Given the description of an element on the screen output the (x, y) to click on. 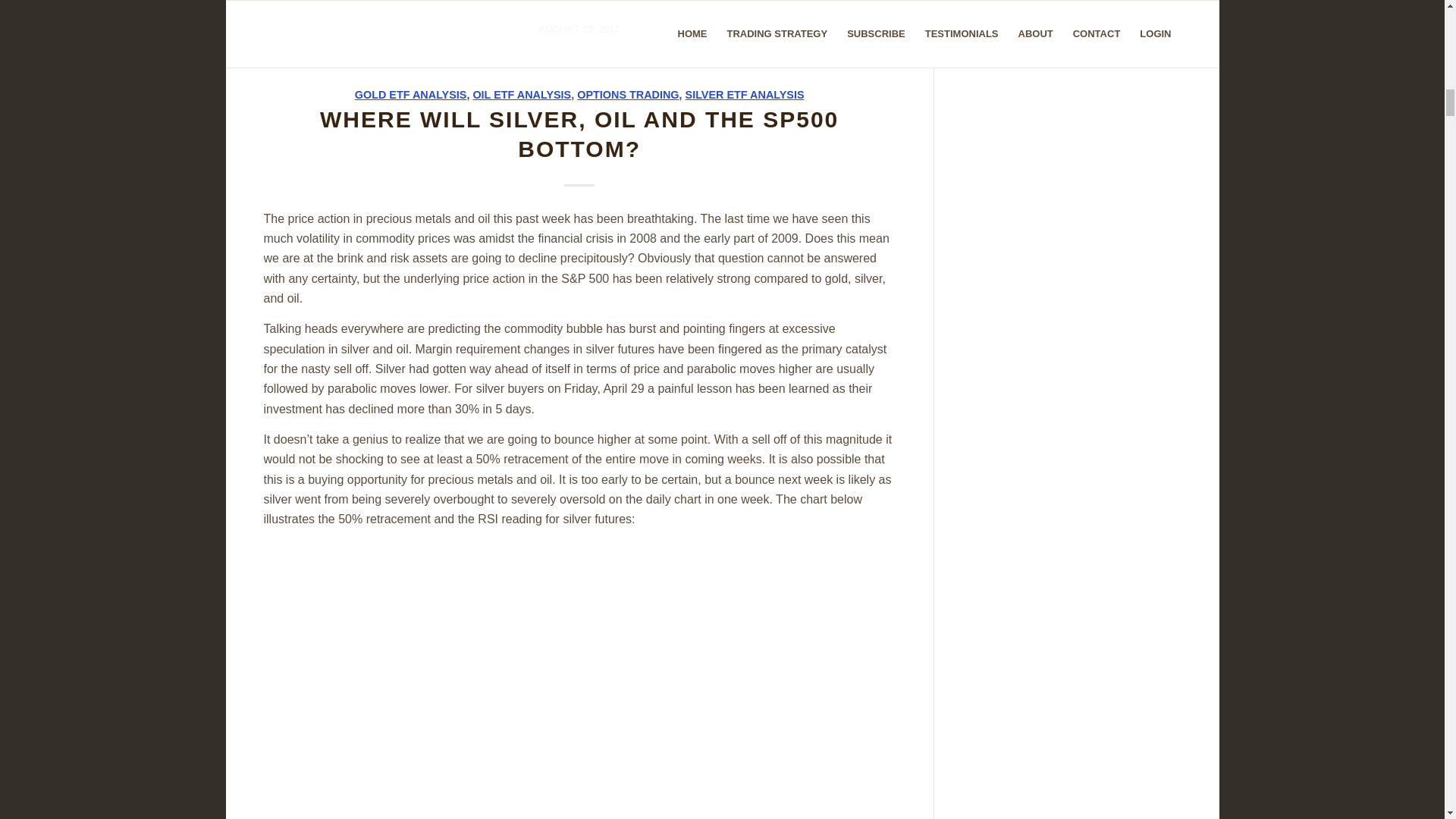
SILVER ETF ANALYSIS (745, 94)
GOLD ETF ANALYSIS (411, 94)
Permanent Link: Where will Silver, Oil and the SP500 Bottom? (579, 134)
WHERE WILL SILVER, OIL AND THE SP500 BOTTOM? (579, 134)
OIL ETF ANALYSIS (520, 94)
OPTIONS TRADING (627, 94)
